Given the description of an element on the screen output the (x, y) to click on. 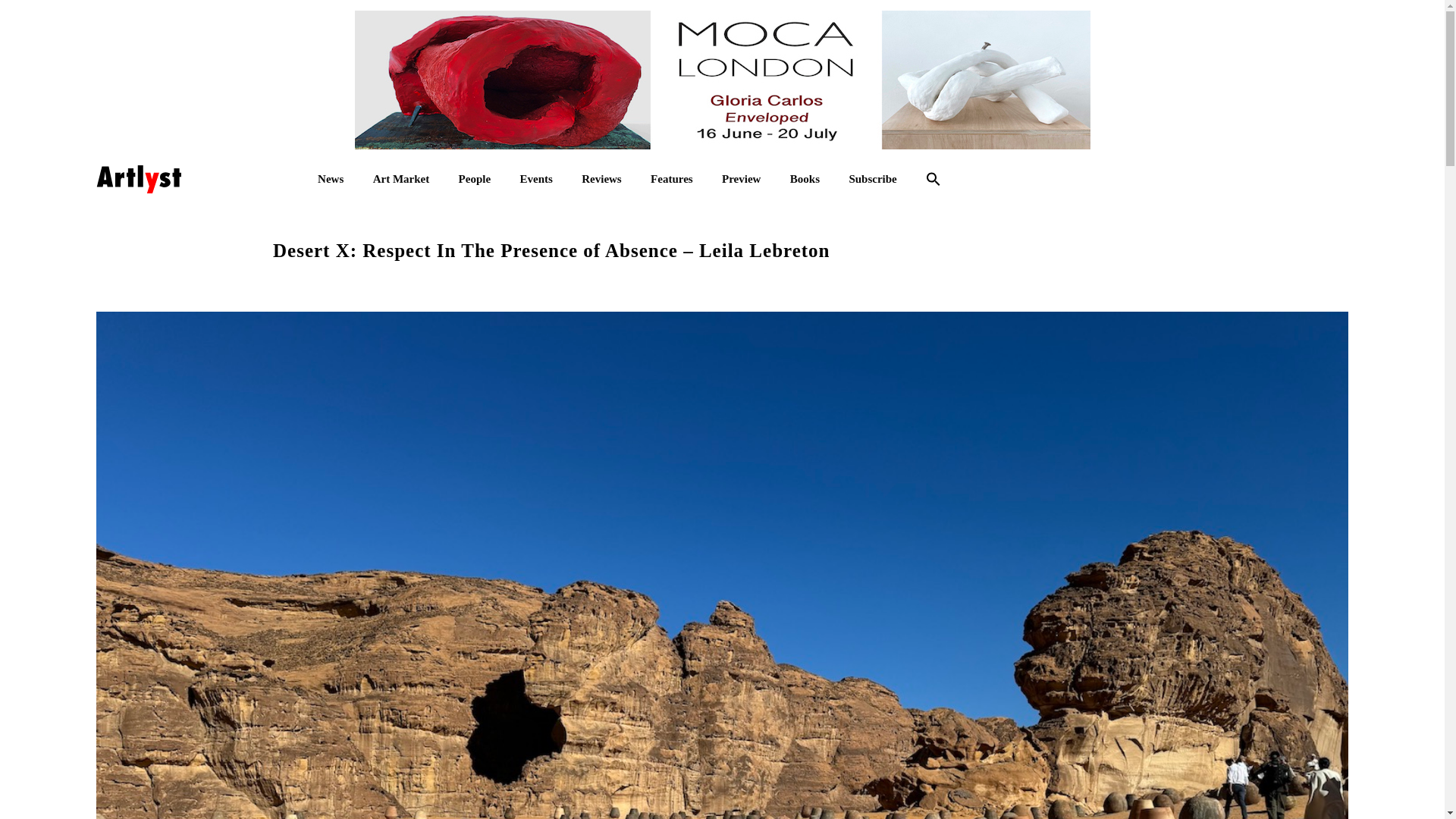
Preview (741, 178)
Subscribe (872, 178)
Reviews (600, 178)
Art Market (400, 178)
News (330, 178)
People (475, 178)
Features (671, 178)
Events (535, 178)
Books (804, 178)
